Given the description of an element on the screen output the (x, y) to click on. 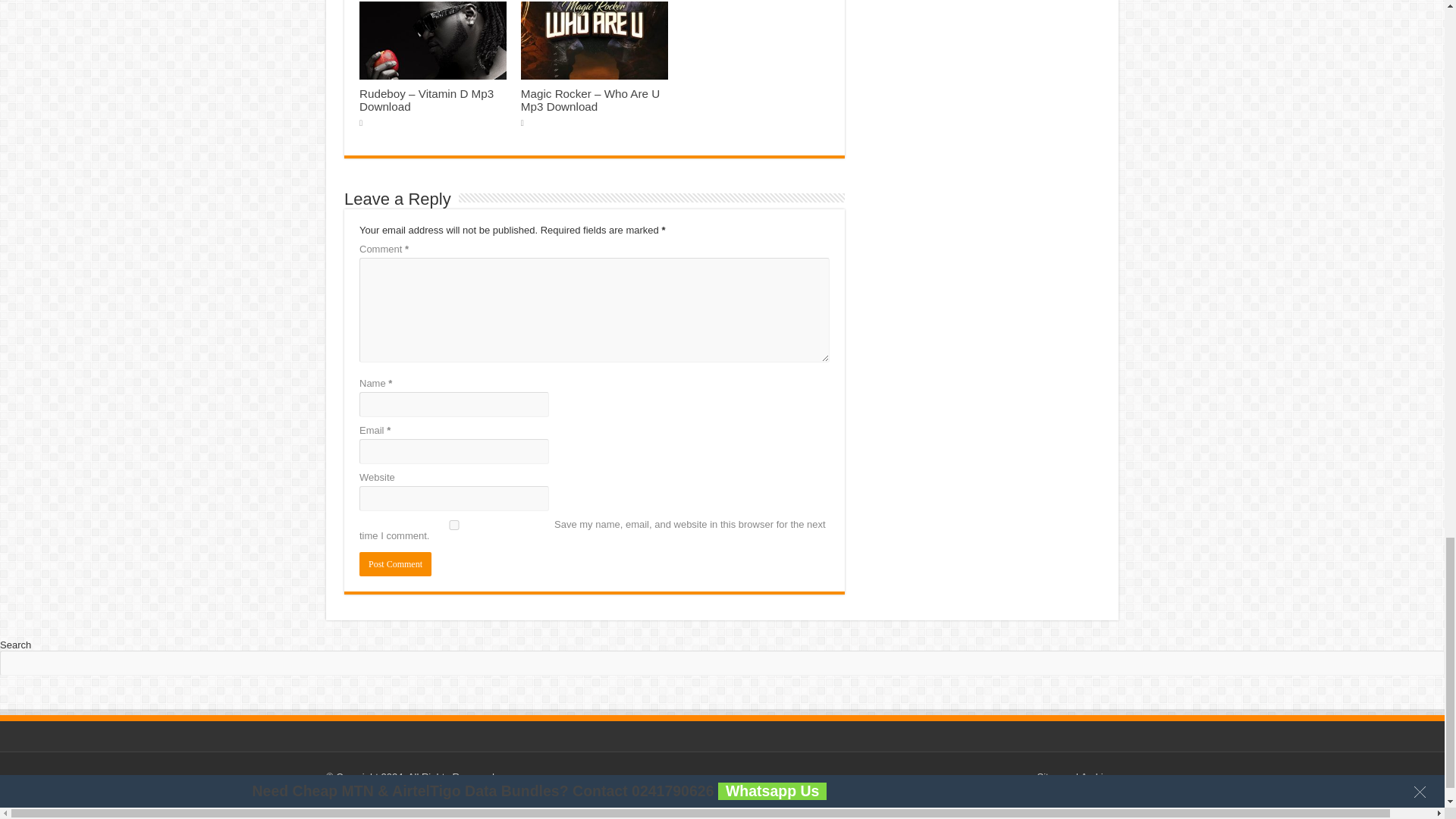
Post Comment (394, 564)
yes (453, 524)
